Given the description of an element on the screen output the (x, y) to click on. 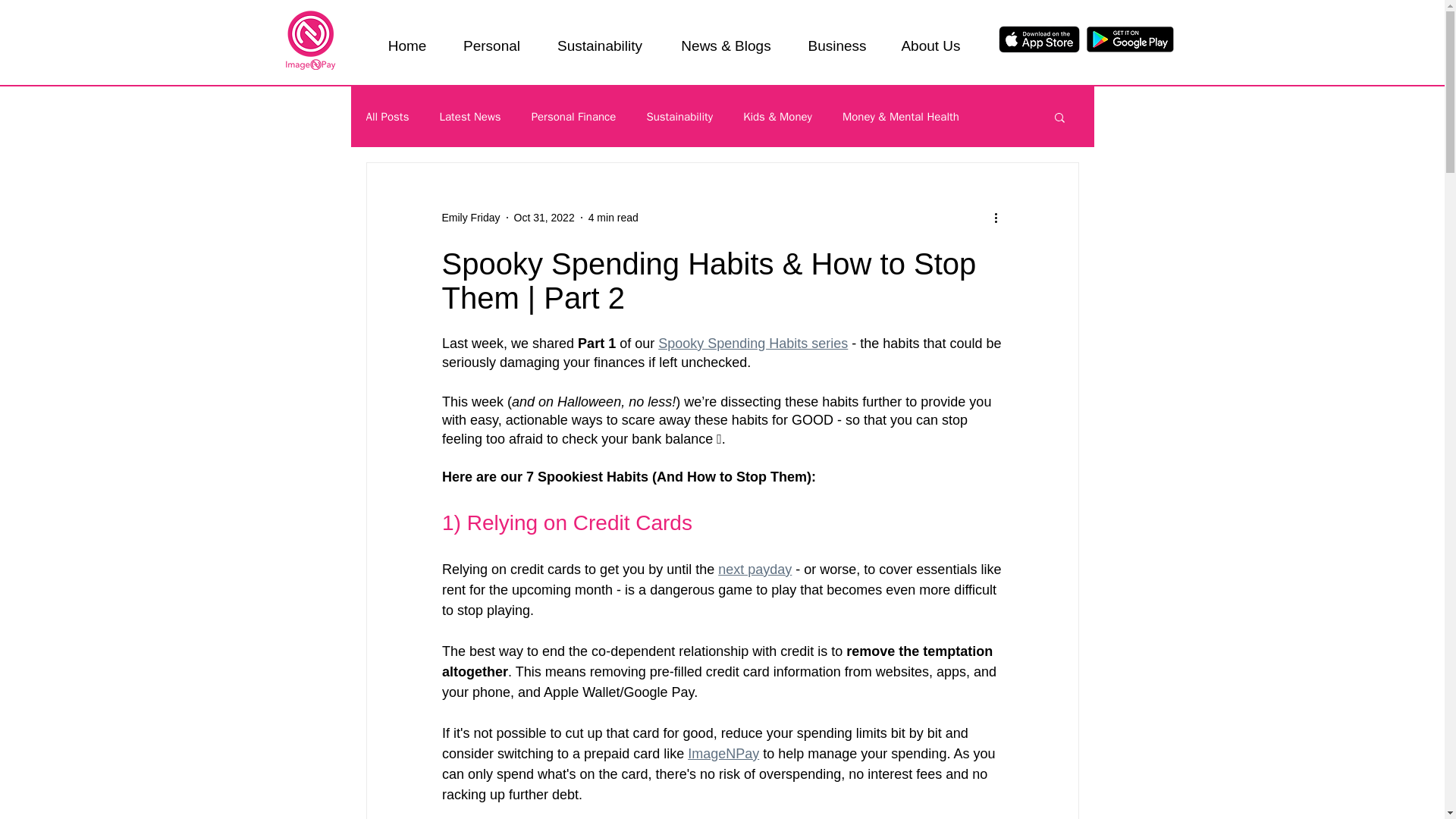
All Posts (387, 115)
ImageNPay (722, 753)
Personal (491, 39)
Sustainability (600, 39)
About Us (929, 39)
next payday (754, 569)
Home (406, 39)
Latest News (469, 115)
Oct 31, 2022 (544, 216)
Personal Finance (573, 115)
